Given the description of an element on the screen output the (x, y) to click on. 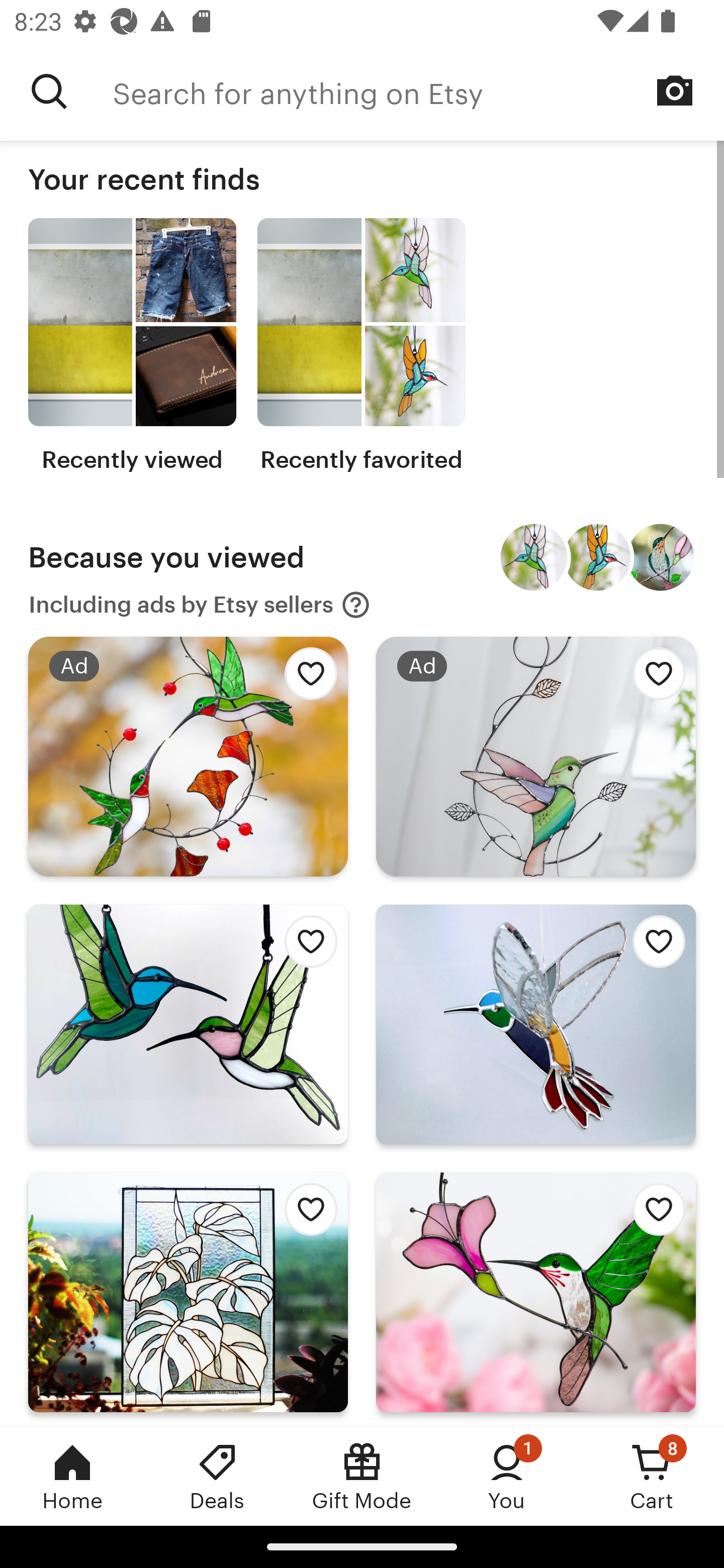
Search for anything on Etsy (49, 91)
Search by image (674, 90)
Search for anything on Etsy (418, 91)
Recently viewed (132, 345)
Recently favorited (361, 345)
Including ads by Etsy sellers (199, 604)
Deals (216, 1475)
Gift Mode (361, 1475)
You, 1 new notification You (506, 1475)
Cart, 8 new notifications Cart (651, 1475)
